Given the description of an element on the screen output the (x, y) to click on. 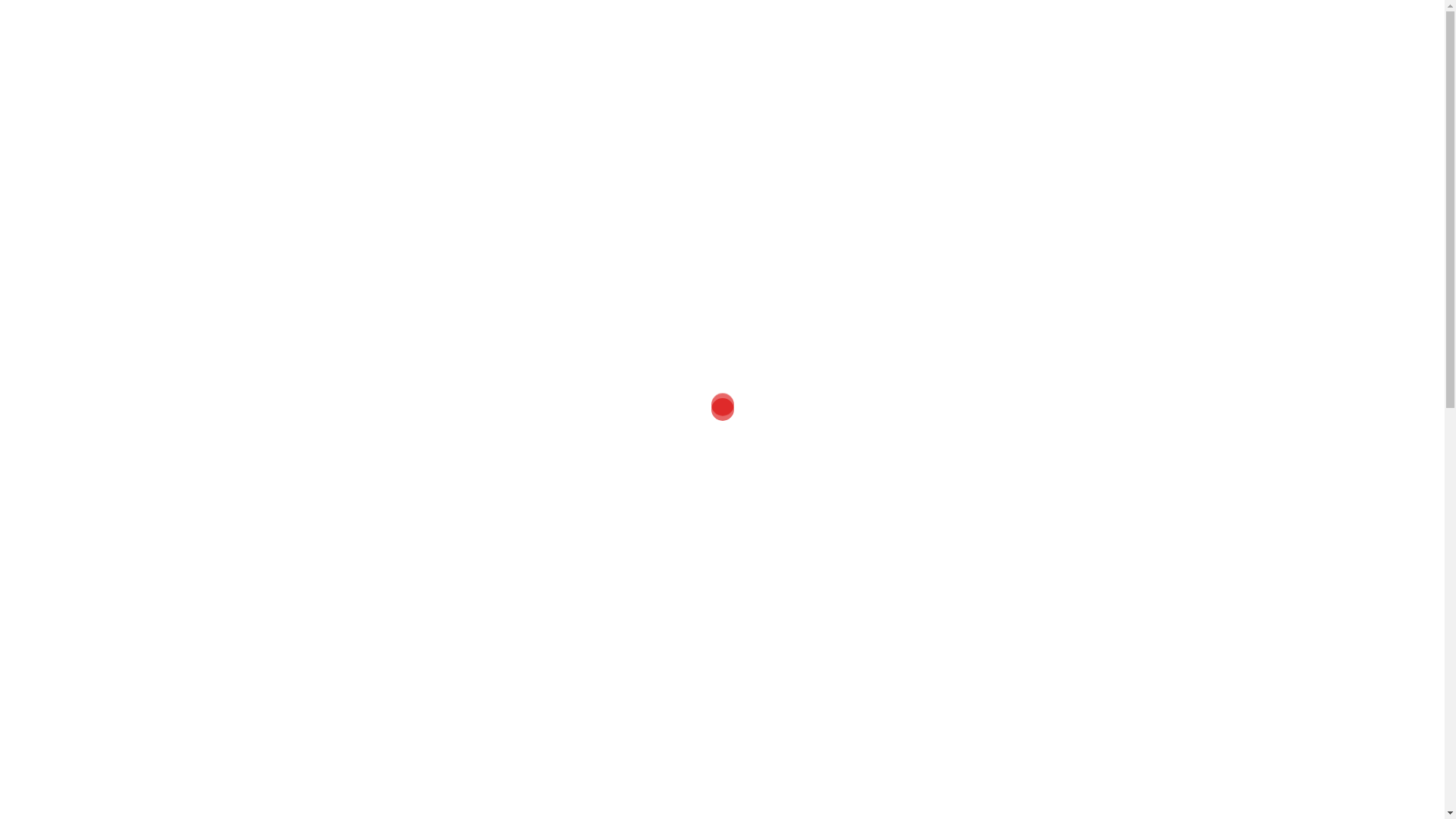
BC Glattbrugg ist Golden Gloves Mannschaftssieger! Element type: text (1037, 365)
5. SEPTEMBER 2022 Element type: text (440, 147)
Uncategorized Element type: text (988, 538)
Credits Element type: text (968, 679)
News Element type: text (982, 67)
Events Element type: text (799, 67)
BOX CENTER Element type: text (530, 147)
Events Element type: text (967, 707)
Leistungssport Element type: text (988, 792)
Preise / Mitgliedschaft Element type: text (892, 67)
Glattbrugg verteidigt den Titel Element type: text (1028, 229)
Milisic gewinnt Bronzemedaille an EUBC Turnier Element type: text (746, 256)
Kontakt Element type: text (1037, 67)
Impressum Element type: text (979, 735)
Anmeldeformular Element type: text (995, 651)
Kontakt Element type: text (969, 764)
Box Center Glattbrugg Element type: hover (721, 29)
Suche Element type: text (43, 18)
Sportmedizin Element type: text (727, 67)
Training Element type: text (544, 67)
Wettkampf-Boxen Element type: text (630, 67)
Startseite Element type: text (410, 67)
